Given the description of an element on the screen output the (x, y) to click on. 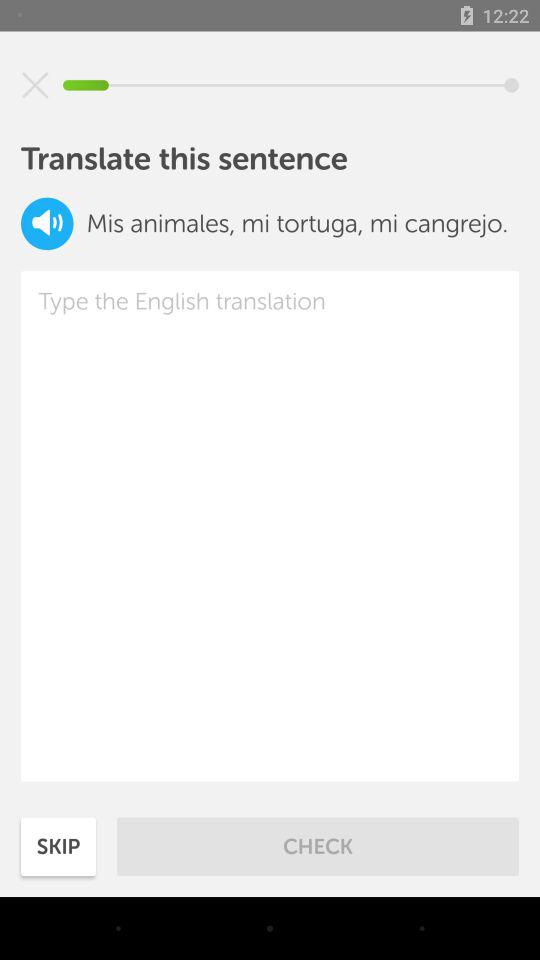
quit the page (35, 85)
